Given the description of an element on the screen output the (x, y) to click on. 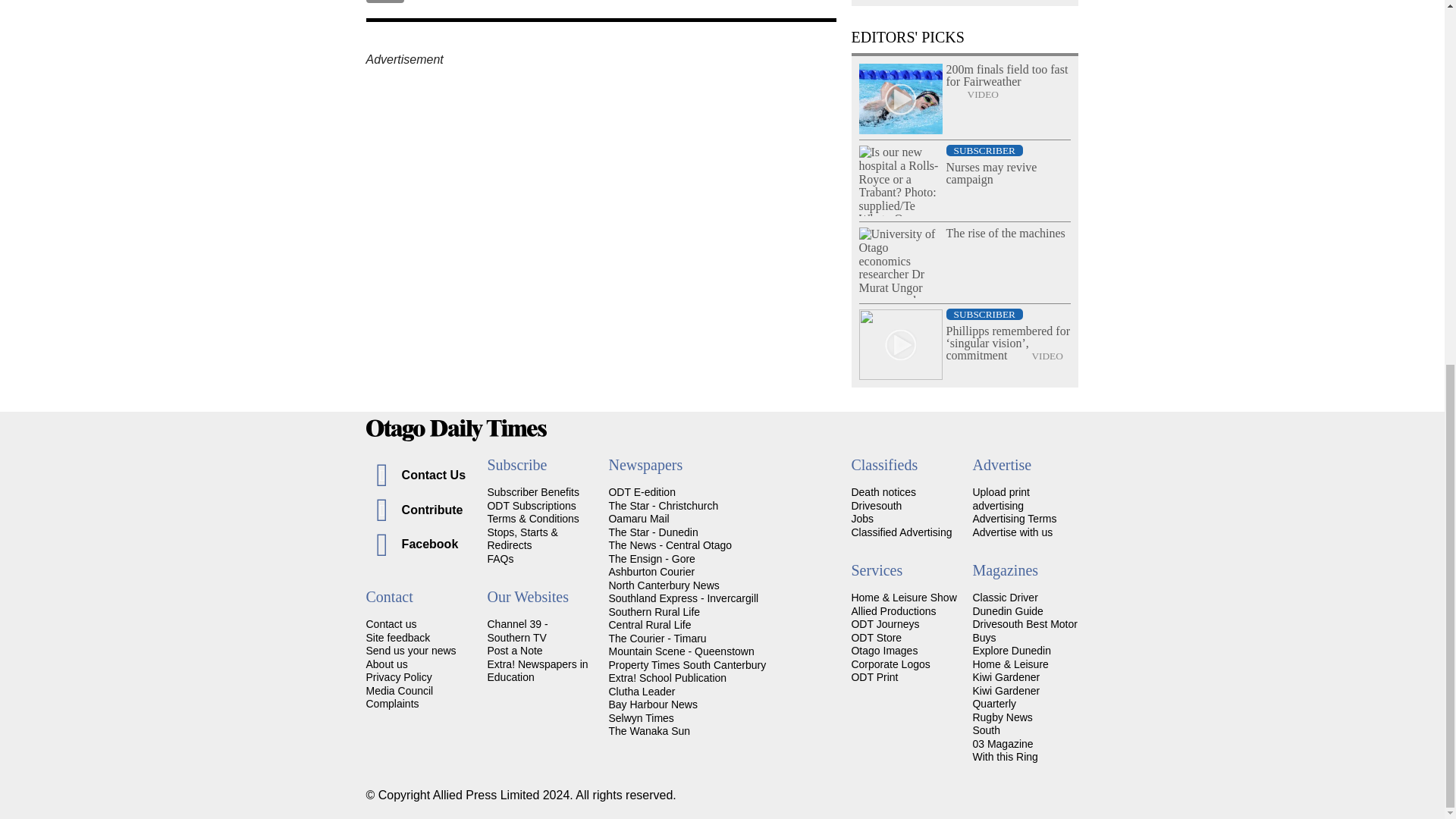
Ways to subscribe to the Otago Daily Times (530, 505)
Send us your news and photos. (410, 650)
Get the ODT delivered right to you! (532, 491)
Home (721, 430)
Get in touch (390, 623)
Let us know what you think (397, 637)
